Given the description of an element on the screen output the (x, y) to click on. 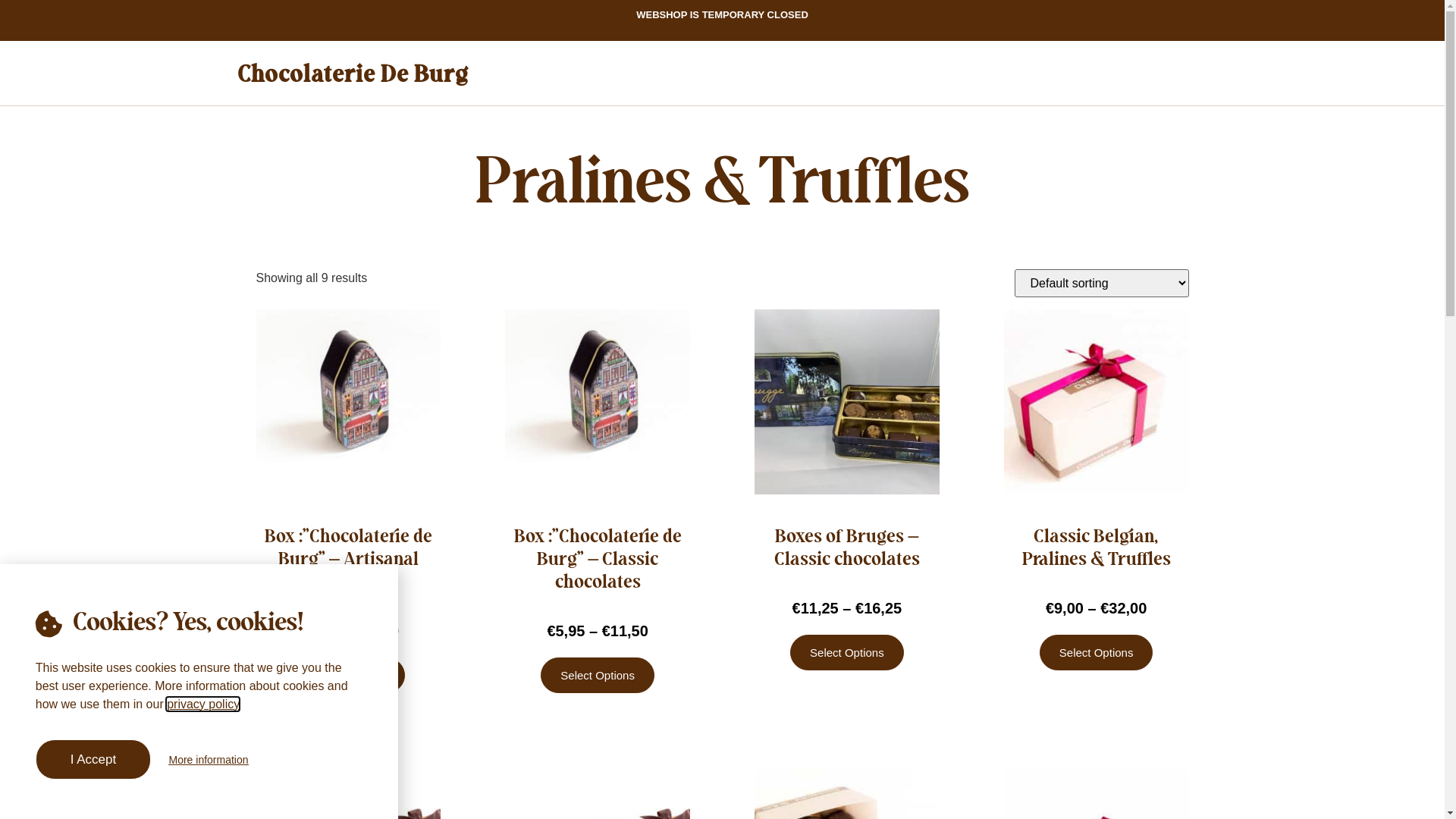
privacy policy Element type: text (202, 703)
Chocolaterie De Burg Element type: text (351, 74)
I Accept Element type: text (92, 759)
More information Element type: text (207, 758)
Select Options Element type: text (846, 652)
Select Options Element type: text (597, 675)
Select Options Element type: text (348, 675)
Select Options Element type: text (1096, 652)
